Given the description of an element on the screen output the (x, y) to click on. 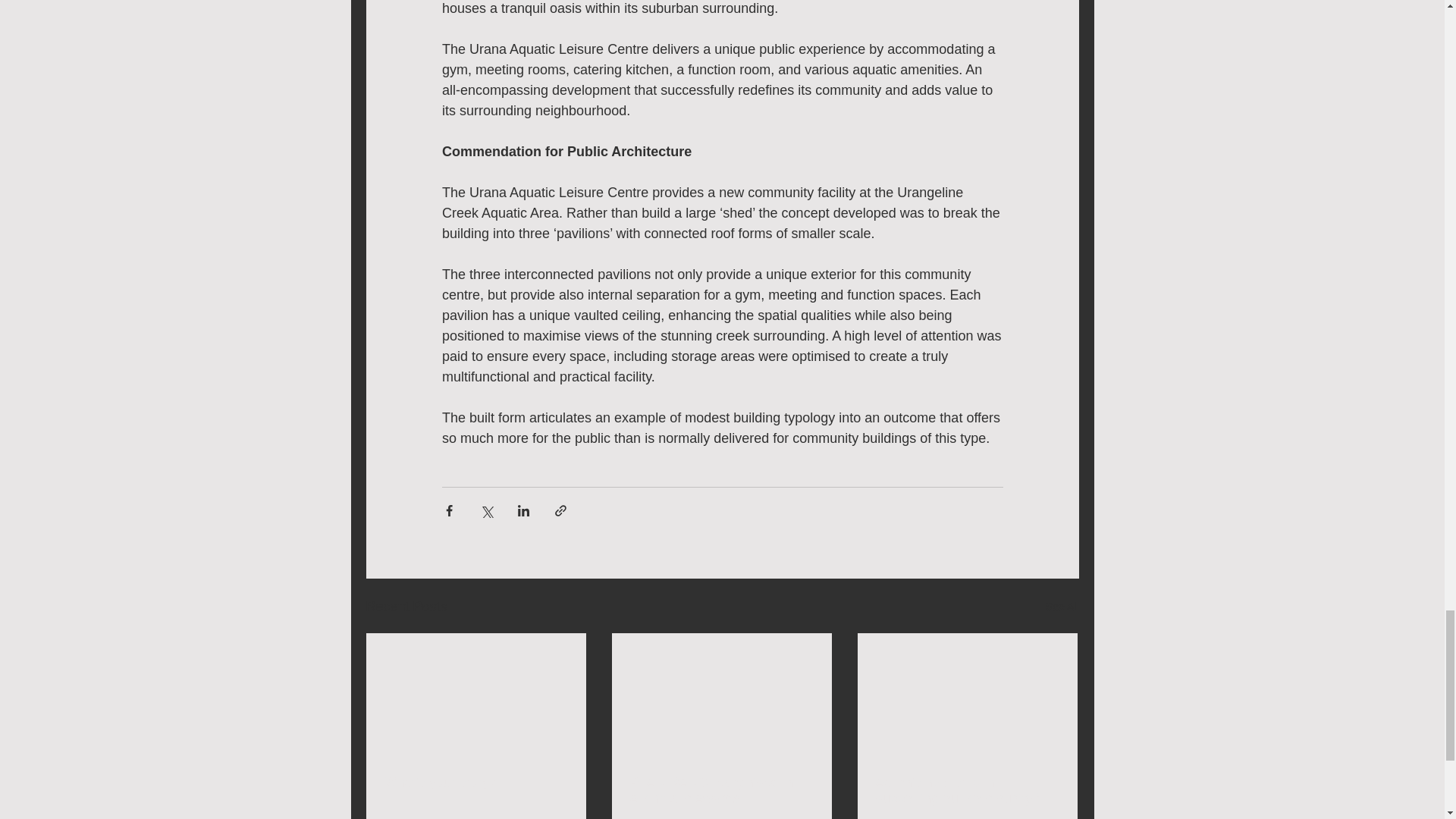
See All (1061, 607)
PLAN RAND recognised in Architeam Awards (720, 790)
What's your story? (475, 782)
